Given the description of an element on the screen output the (x, y) to click on. 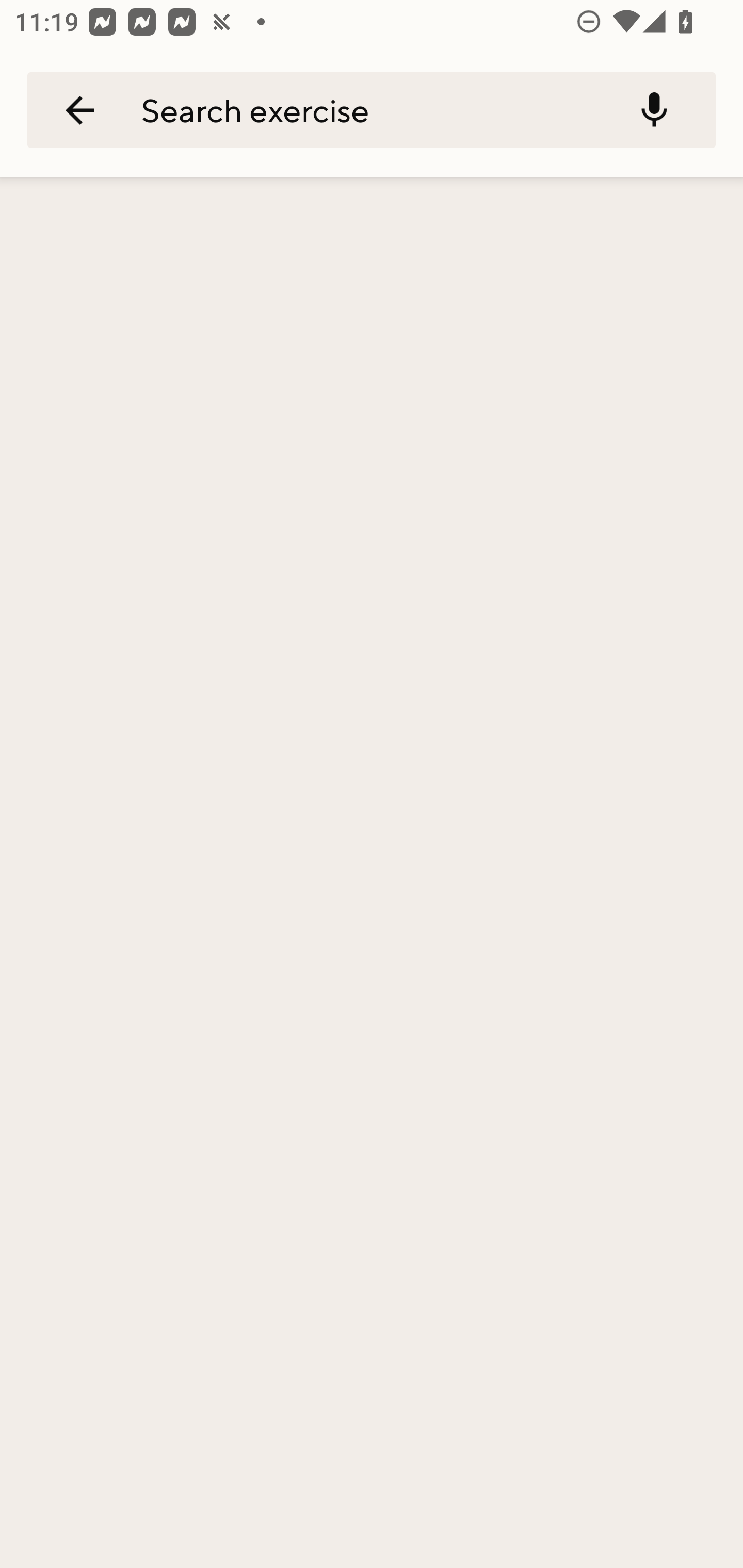
Search exercise (362, 109)
